Given the description of an element on the screen output the (x, y) to click on. 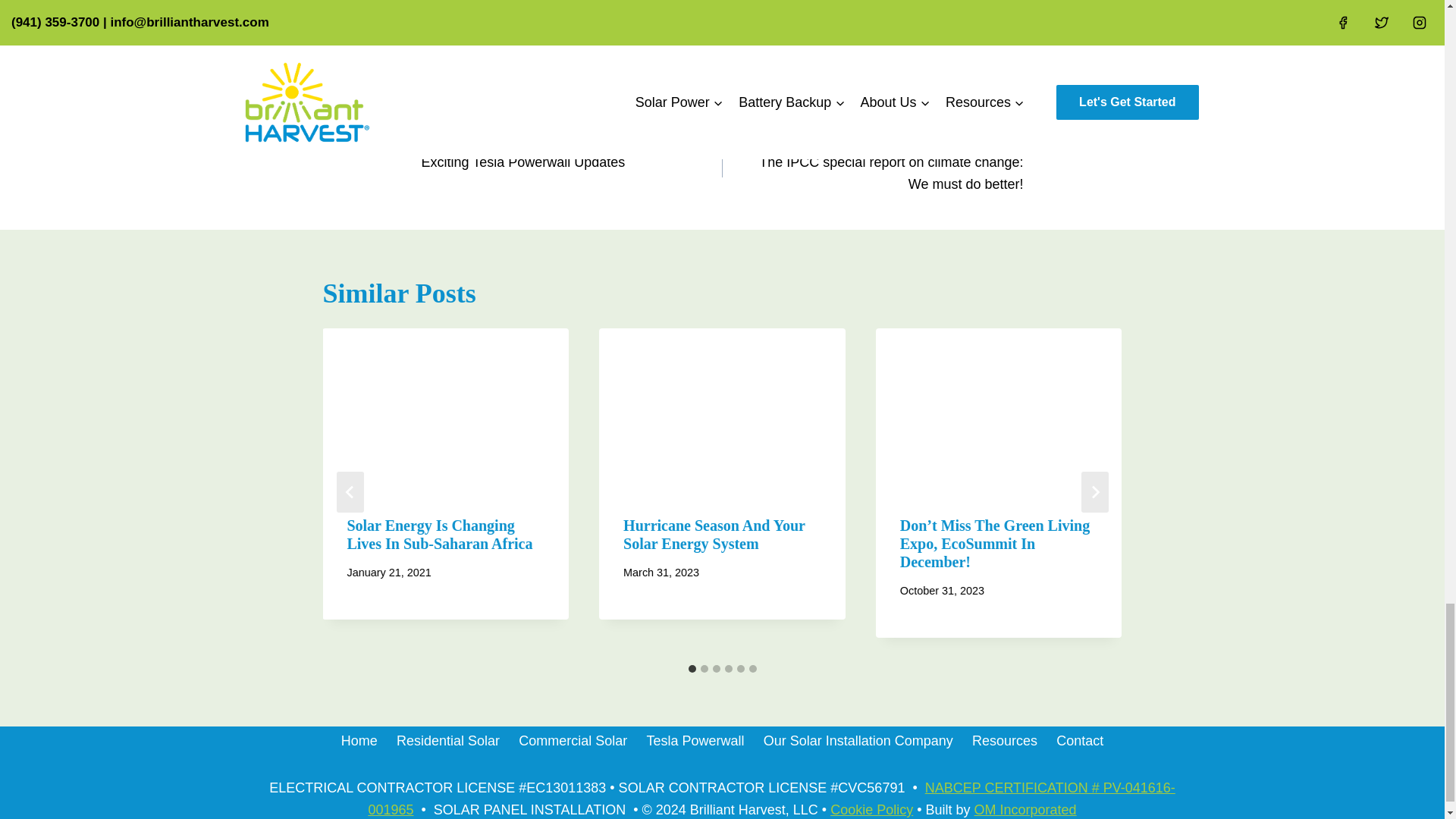
sarasota licensed contractor solar (513, 41)
solar power unlicensed contractor (877, 41)
sarasota unlicensed contractor (694, 41)
sarasota licensed contractor (854, 11)
florida unlicensed contractor (574, 11)
licensed contractor (714, 11)
contractor (456, 11)
